Given the description of an element on the screen output the (x, y) to click on. 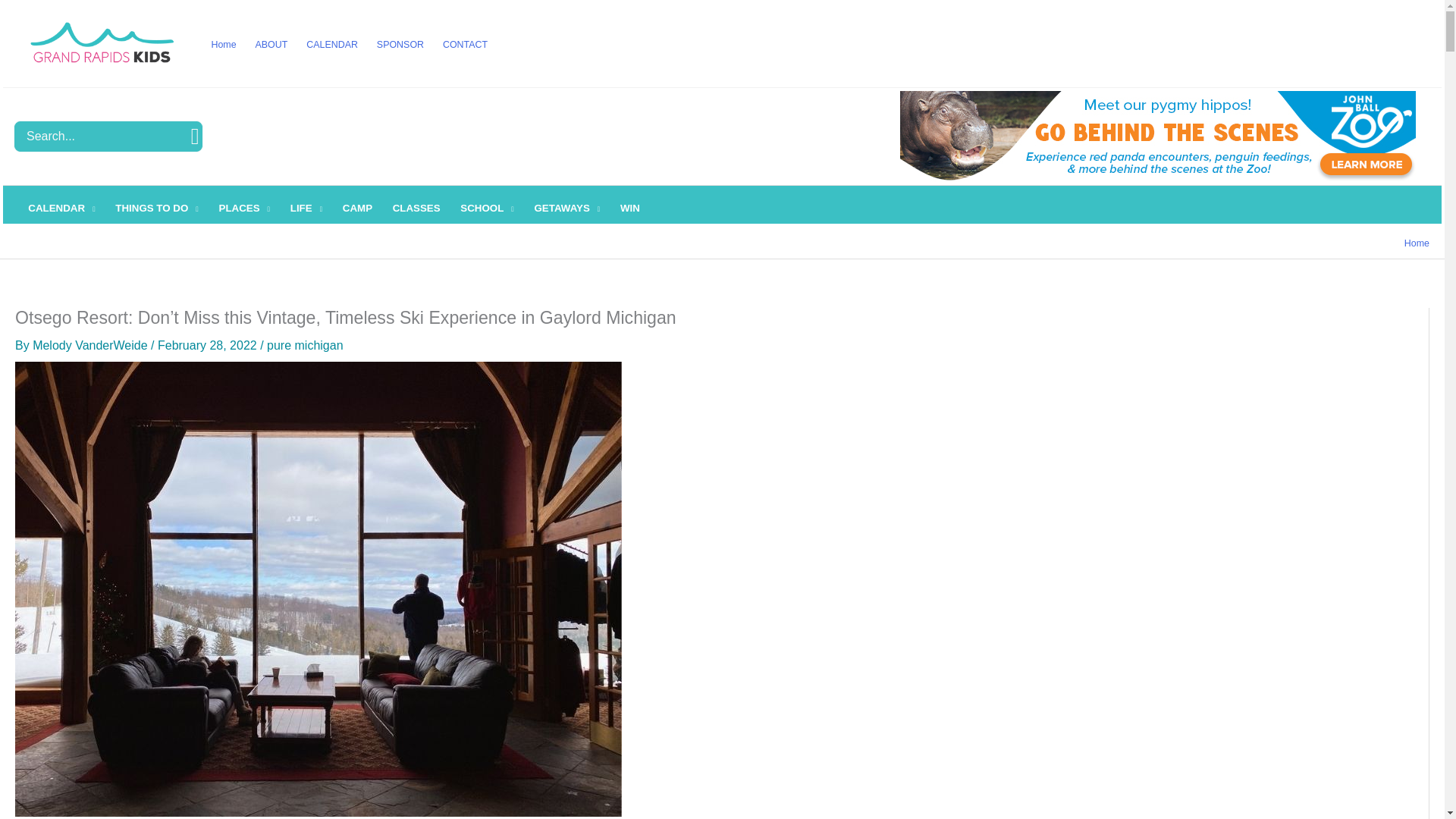
CALENDAR (332, 44)
CONTACT (464, 44)
View all posts by Melody VanderWeide (91, 345)
ABOUT (271, 44)
CALENDAR (60, 207)
Home (224, 44)
SPONSOR (399, 44)
THINGS TO DO (156, 207)
